Given the description of an element on the screen output the (x, y) to click on. 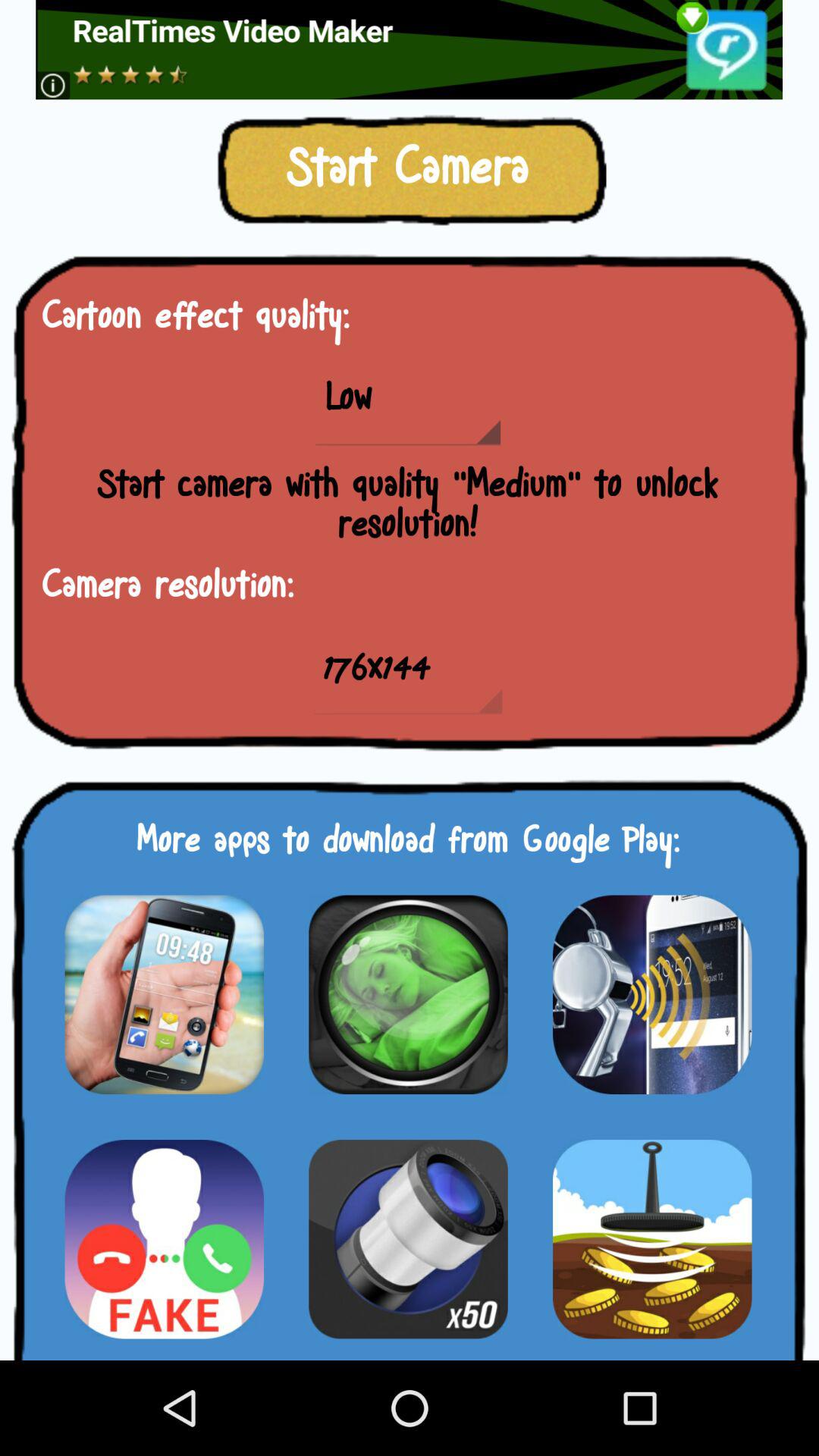
go to the app page (408, 994)
